Given the description of an element on the screen output the (x, y) to click on. 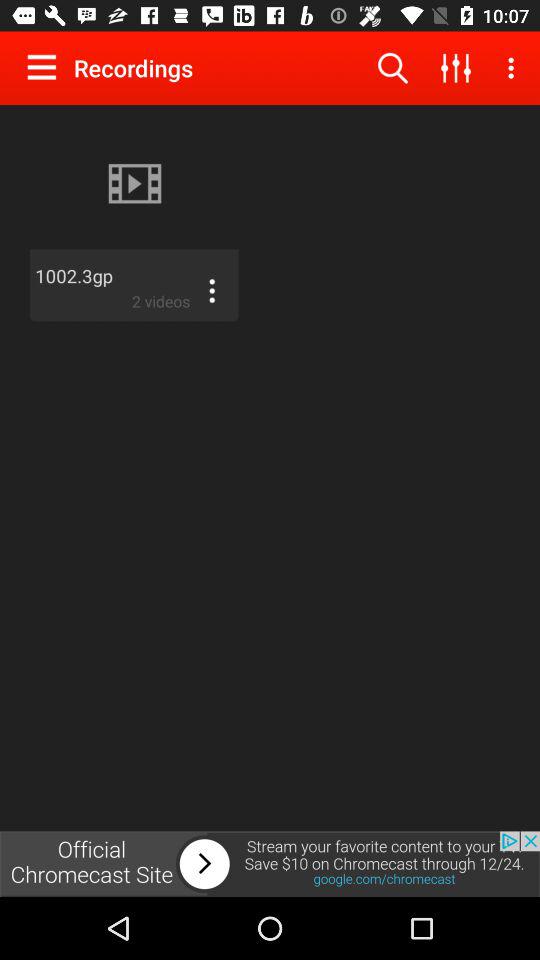
open menu (46, 67)
